Given the description of an element on the screen output the (x, y) to click on. 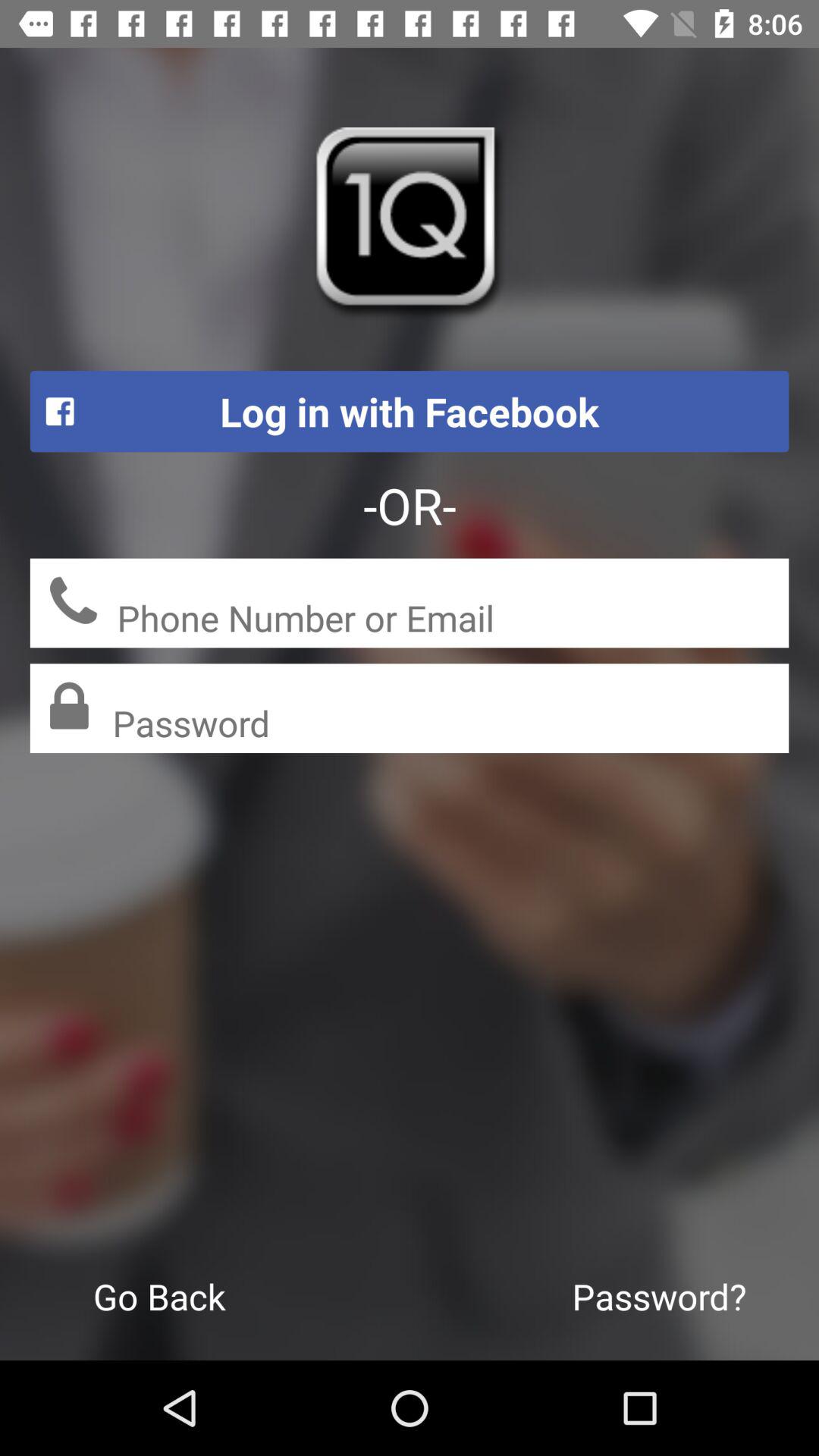
scroll to the log in with icon (409, 411)
